Given the description of an element on the screen output the (x, y) to click on. 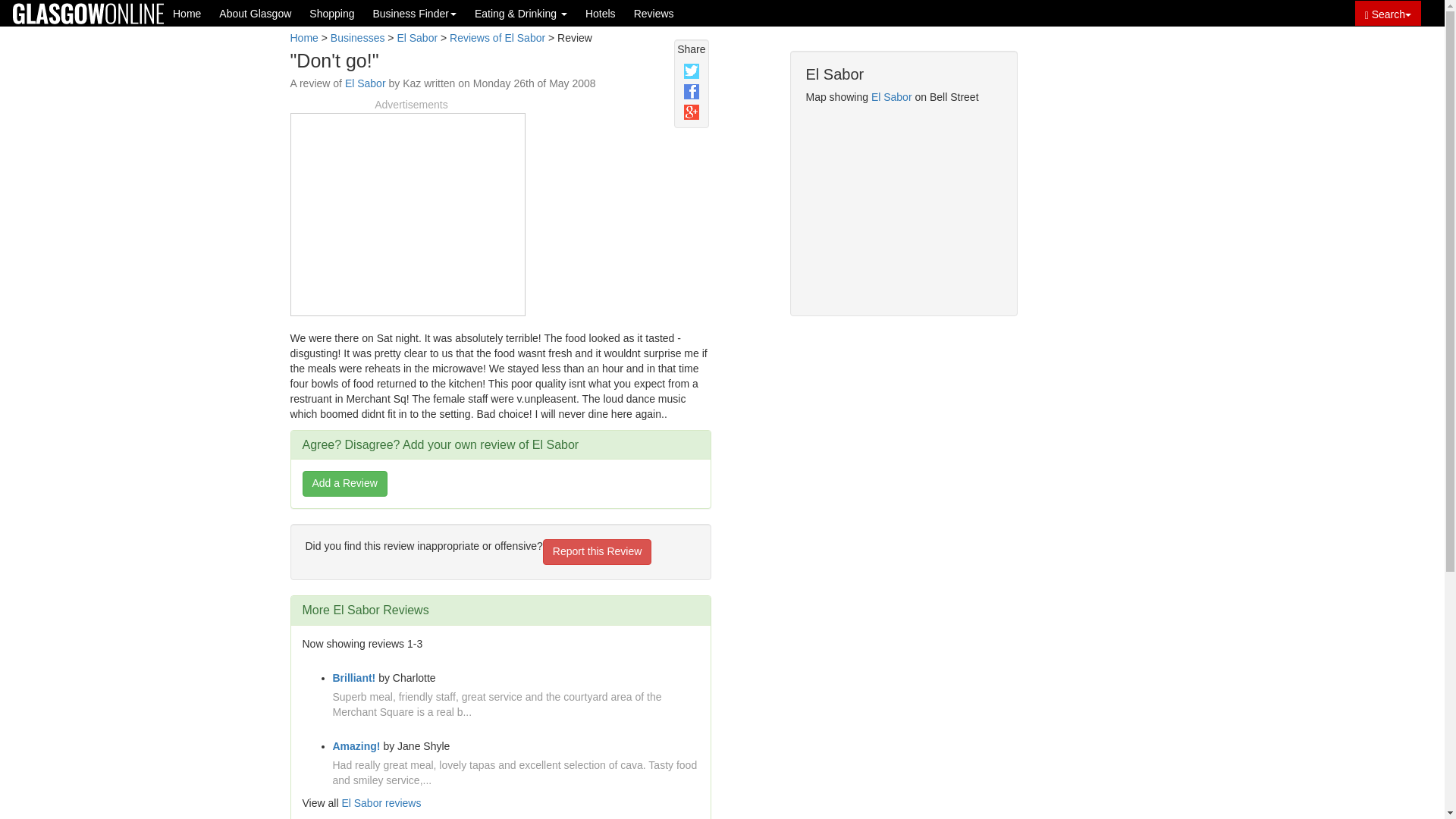
Brilliant! (353, 677)
Advertisement (1091, 296)
Advertisement (407, 212)
Reviews (653, 12)
Shopping (330, 12)
El Sabor (891, 96)
Home (186, 12)
Report this Review (597, 551)
El Sabor (365, 82)
Hotels (600, 12)
Home (303, 37)
El Sabor reviews (380, 802)
About Glasgow (254, 12)
El Sabor (417, 37)
Amazing! (355, 746)
